Given the description of an element on the screen output the (x, y) to click on. 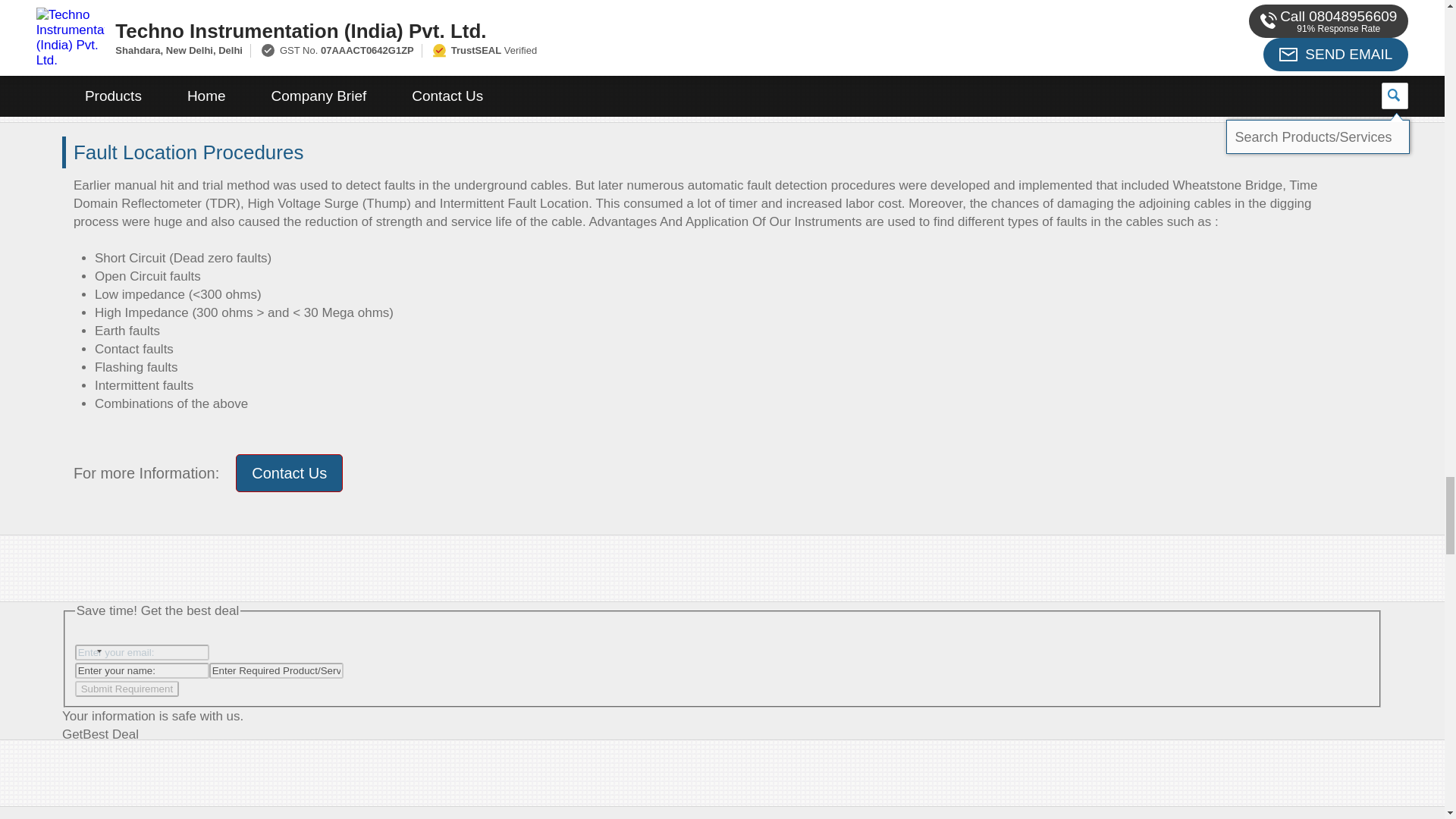
Submit Requirement (127, 688)
Enter your name: (142, 670)
Enter your email: (142, 652)
Submit Requirement (127, 688)
